Given the description of an element on the screen output the (x, y) to click on. 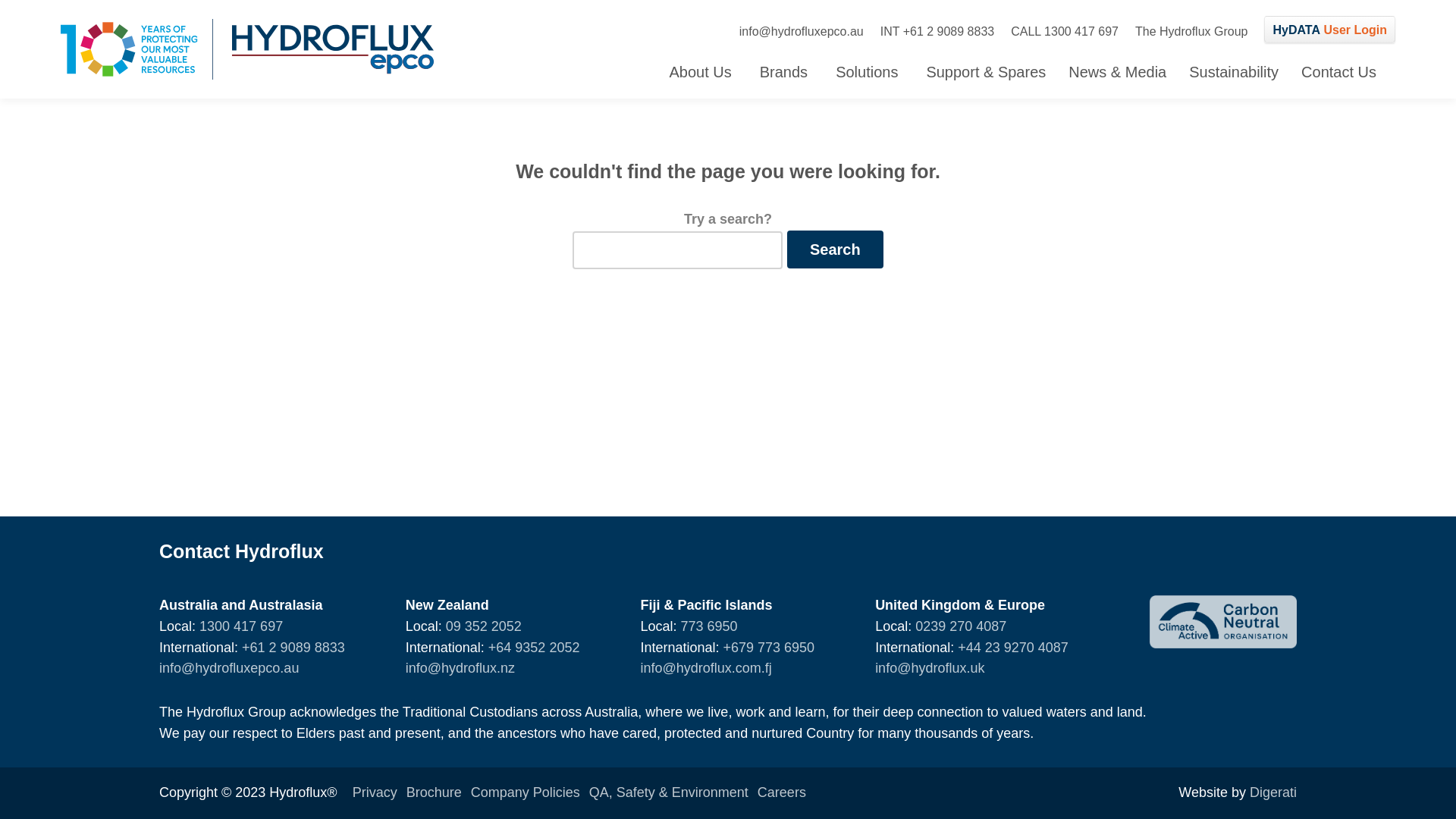
773 6950 Element type: text (708, 625)
1300 417 697 Element type: text (240, 625)
+64 9352 2052 Element type: text (534, 647)
info@hydrofluxepco.au Element type: text (801, 31)
+679 773 6950 Element type: text (769, 647)
QA, Safety & Environment Element type: text (668, 792)
09 352 2052 Element type: text (483, 625)
Company Policies Element type: text (525, 792)
info@hydroflux.com.fj Element type: text (705, 667)
The Hydroflux Group Element type: text (1191, 31)
Careers Element type: text (781, 792)
info@hydrofluxepco.au Element type: text (228, 667)
HyDATA
 User Login Element type: text (1329, 28)
info@hydroflux.nz Element type: text (459, 667)
Brands Element type: text (785, 71)
info@hydroflux.uk Element type: text (929, 667)
+44 23 9270 4087 Element type: text (1012, 647)
CALL 1300 417 697 Element type: text (1064, 31)
News & Media Element type: text (1117, 71)
Digerati Element type: text (1272, 792)
INT +61 2 9089 8833 Element type: text (937, 31)
Brochure Element type: text (433, 792)
Search Element type: text (835, 249)
Search Element type: text (869, 163)
+61 2 9089 8833 Element type: text (293, 647)
About Us Element type: text (702, 71)
Privacy Element type: text (374, 792)
Support & Spares Element type: text (985, 71)
Contact Us Element type: text (1338, 71)
Solutions Element type: text (869, 71)
0239 270 4087 Element type: text (960, 625)
Sustainability Element type: text (1233, 71)
